Given the description of an element on the screen output the (x, y) to click on. 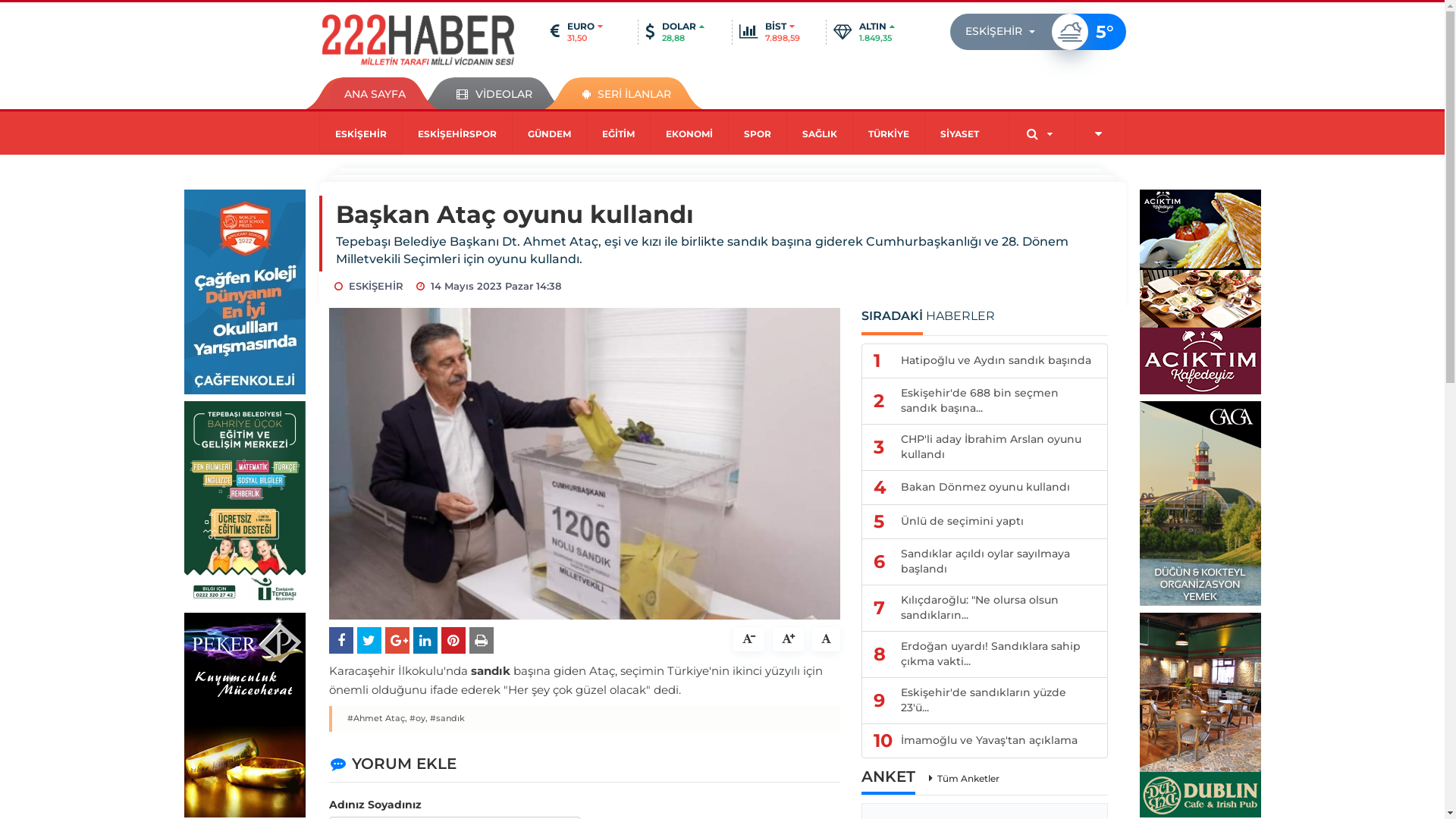
#oy, Element type: text (418, 718)
ANA SAYFA Element type: text (374, 93)
0 Element type: text (747, 639)
0 Element type: text (787, 639)
0 Element type: text (825, 639)
SPOR Element type: text (757, 132)
